Given the description of an element on the screen output the (x, y) to click on. 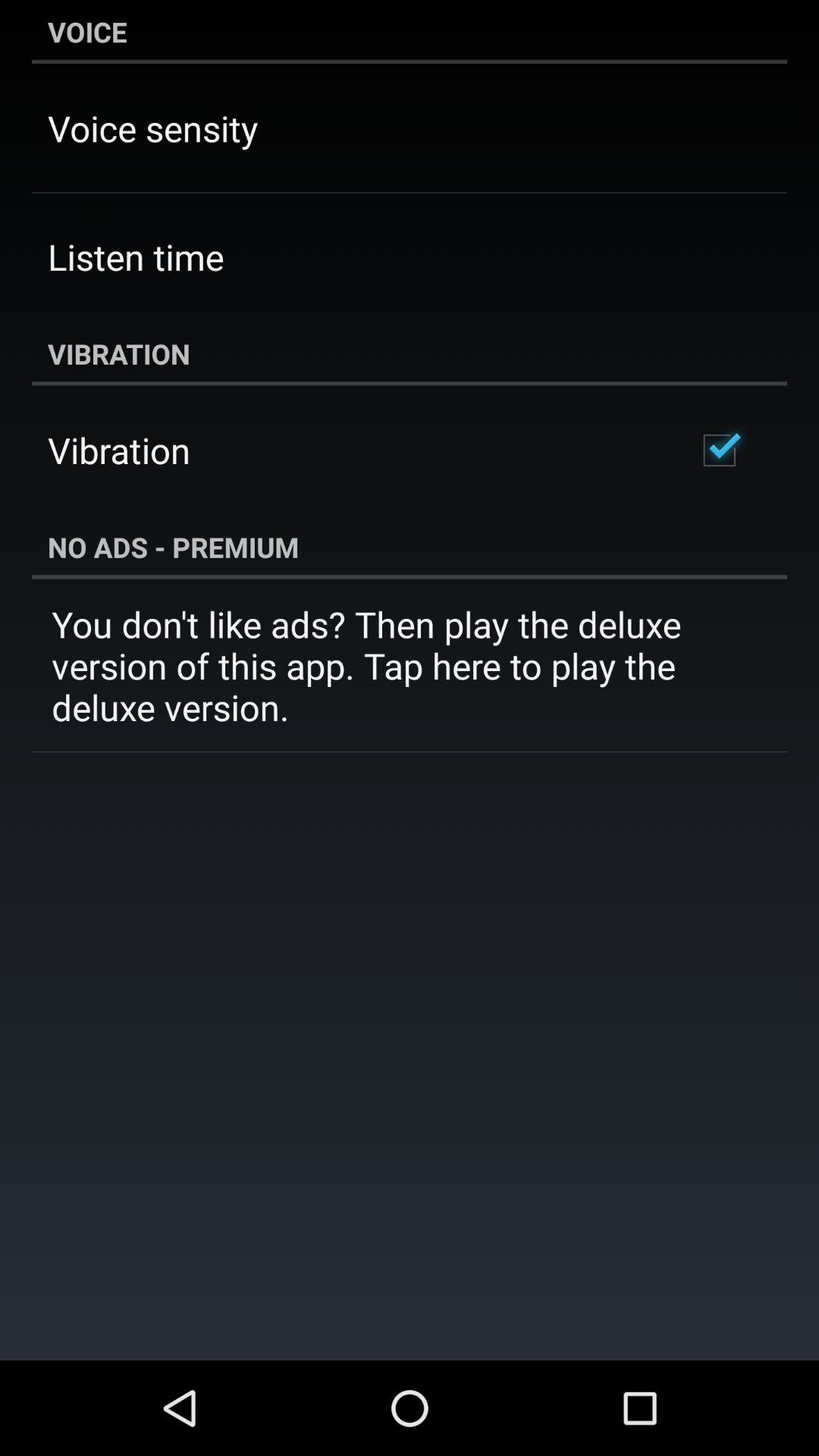
flip to listen time app (135, 256)
